Given the description of an element on the screen output the (x, y) to click on. 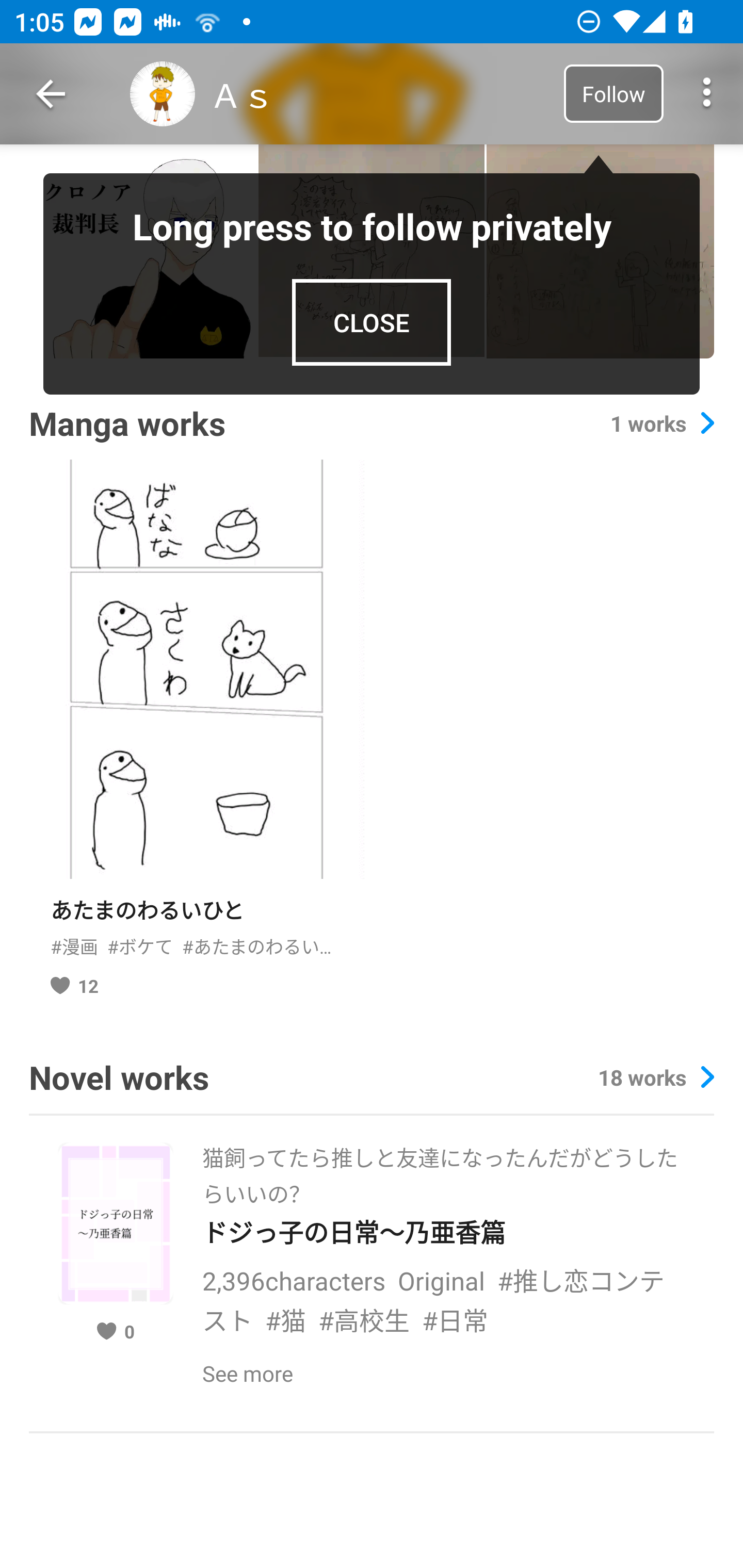
Navigate up (50, 93)
More options (706, 93)
Follow (613, 93)
CLOSE (371, 322)
1 works (662, 423)
あたまのわるいひと #漫画  #ボケて  #あたまのわるいひと  #成仏  #ボツ案 12 (196, 735)
18 works (656, 1077)
猫飼ってたら推しと友達になったんだがどうしたらいいの？ (443, 1169)
